Given the description of an element on the screen output the (x, y) to click on. 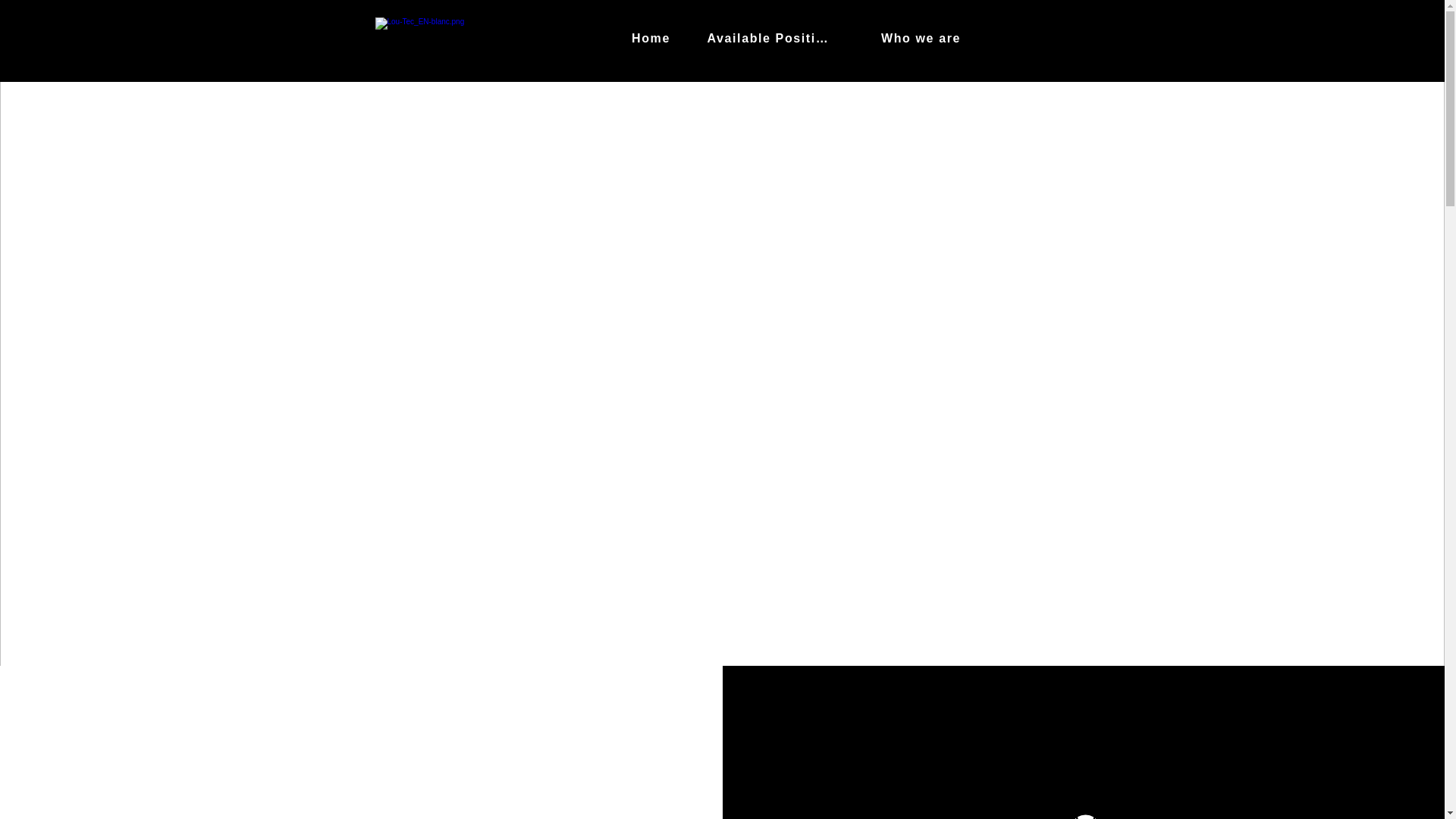
Who we are (920, 38)
Available Positions (770, 38)
Home (651, 38)
